Given the description of an element on the screen output the (x, y) to click on. 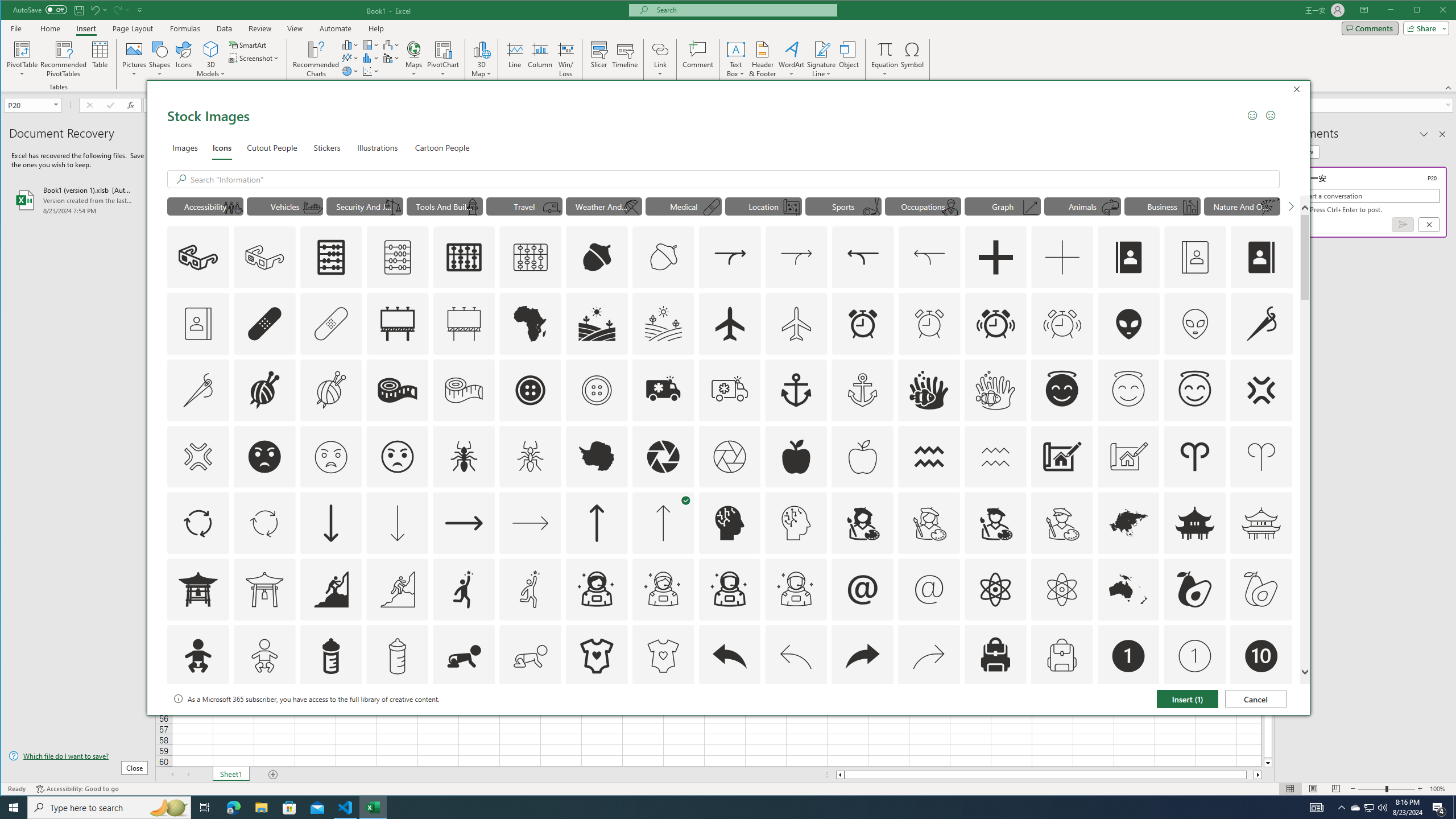
AutomationID: Icons_BabyCrawling (464, 655)
AutomationID: Icons_Aperture_M (729, 456)
AutomationID: Icons_ArrowUp (596, 522)
Microsoft Edge (233, 807)
AutomationID: Icons_Badge4 (530, 721)
AutomationID: Icons_Anchor (796, 389)
AutomationID: Icons_Acquisition_RTL (863, 256)
Search highlights icon opens search home window (167, 807)
AutomationID: Icons_Whale_M (1110, 207)
AutomationID: Icons_Acorn (596, 256)
